Given the description of an element on the screen output the (x, y) to click on. 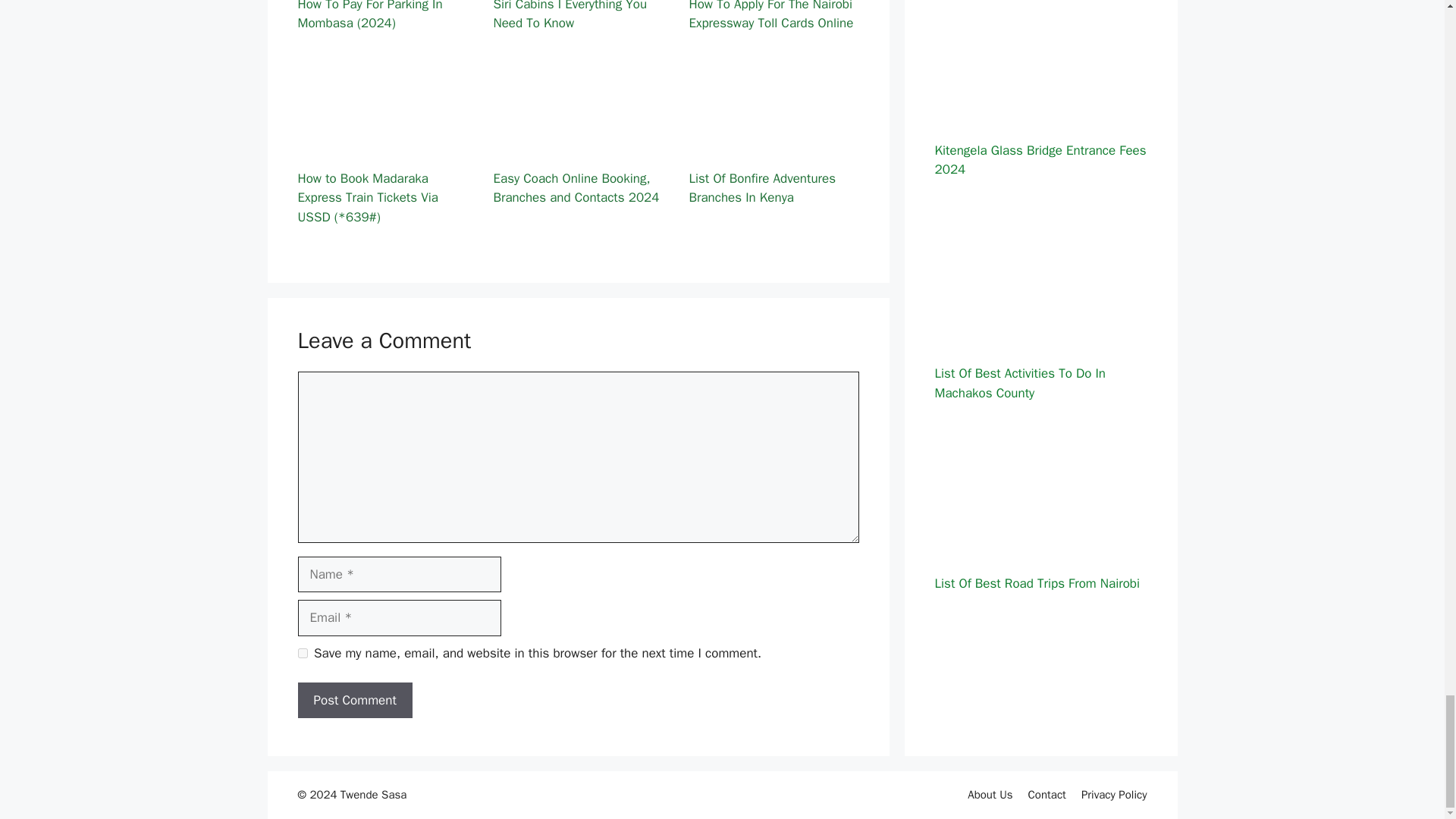
Easy Coach Online Booking, Branches and Contacts 2024 (577, 145)
Post Comment (354, 700)
yes (302, 653)
List Of Bonfire Adventures Branches In Kenya (773, 145)
